Given the description of an element on the screen output the (x, y) to click on. 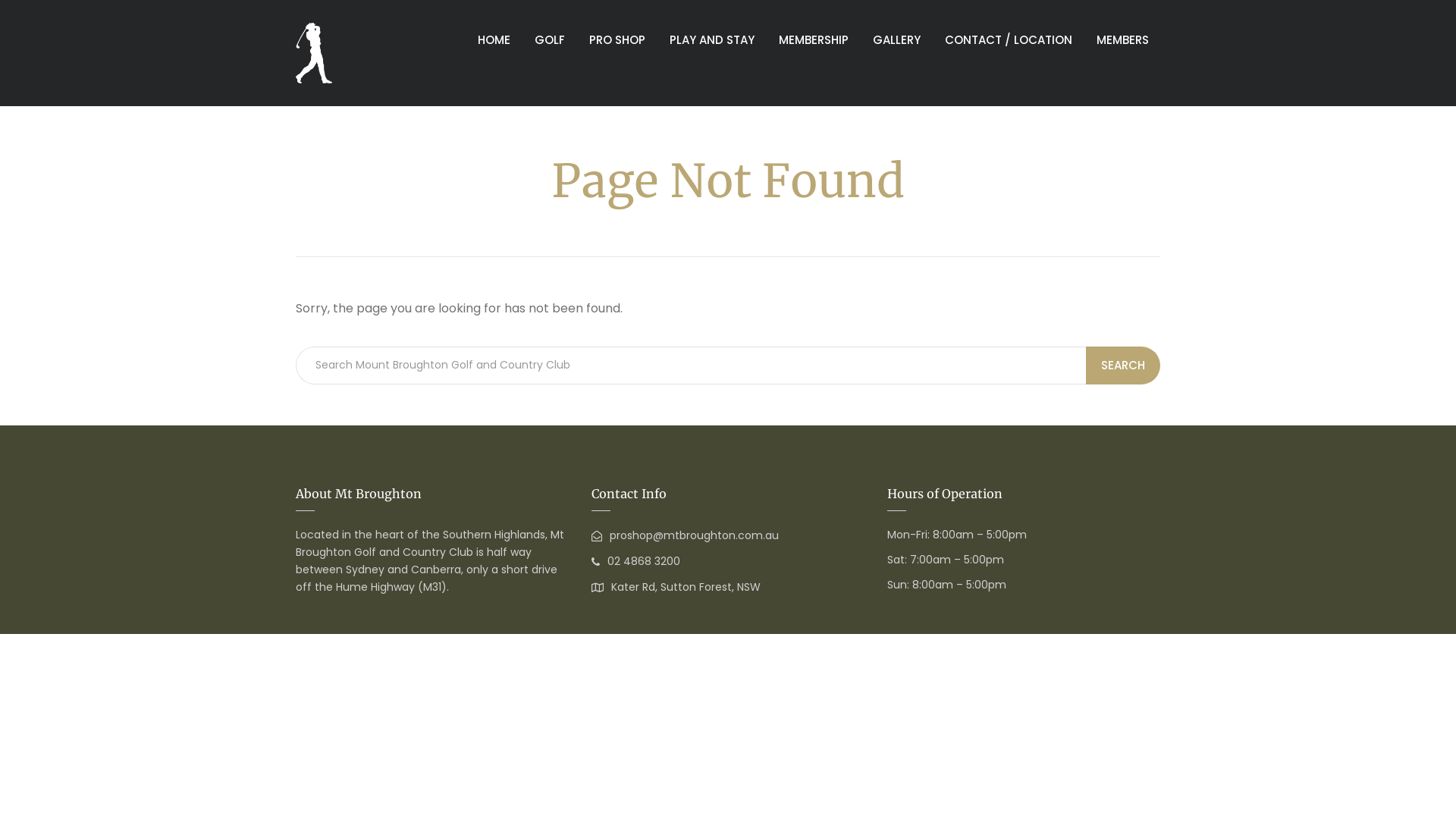
MEMBERSHIP Element type: text (813, 40)
02 4868 3200 Element type: text (635, 560)
Kater Rd, Sutton Forest, NSW Element type: text (675, 586)
CONTACT / LOCATION Element type: text (1008, 40)
MEMBERS Element type: text (1122, 40)
GALLERY Element type: text (896, 40)
SEARCH Element type: text (1122, 365)
GOLF Element type: text (549, 40)
proshop@mtbroughton.com.au Element type: text (684, 534)
PLAY AND STAY Element type: text (711, 40)
HOME Element type: text (493, 40)
PRO SHOP Element type: text (617, 40)
